Given the description of an element on the screen output the (x, y) to click on. 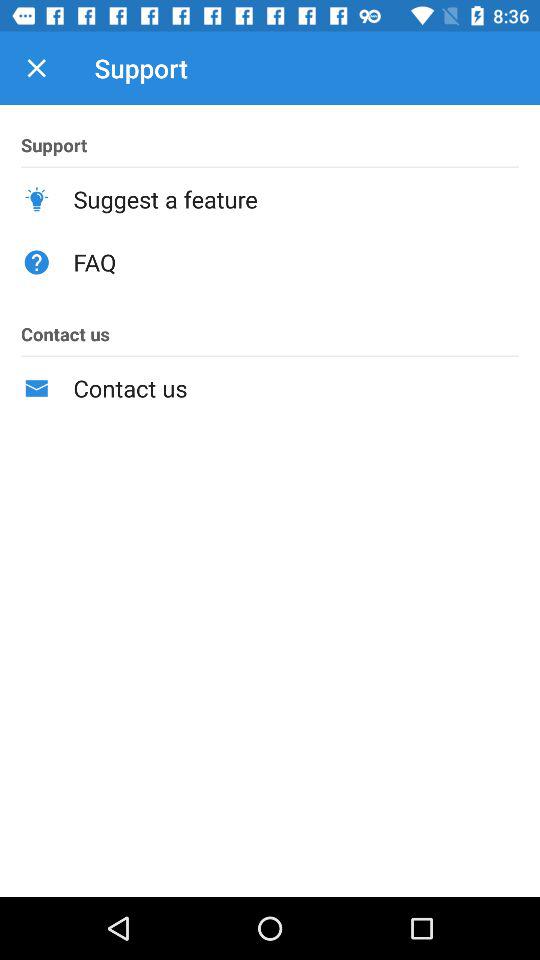
press icon below the support item (296, 199)
